Given the description of an element on the screen output the (x, y) to click on. 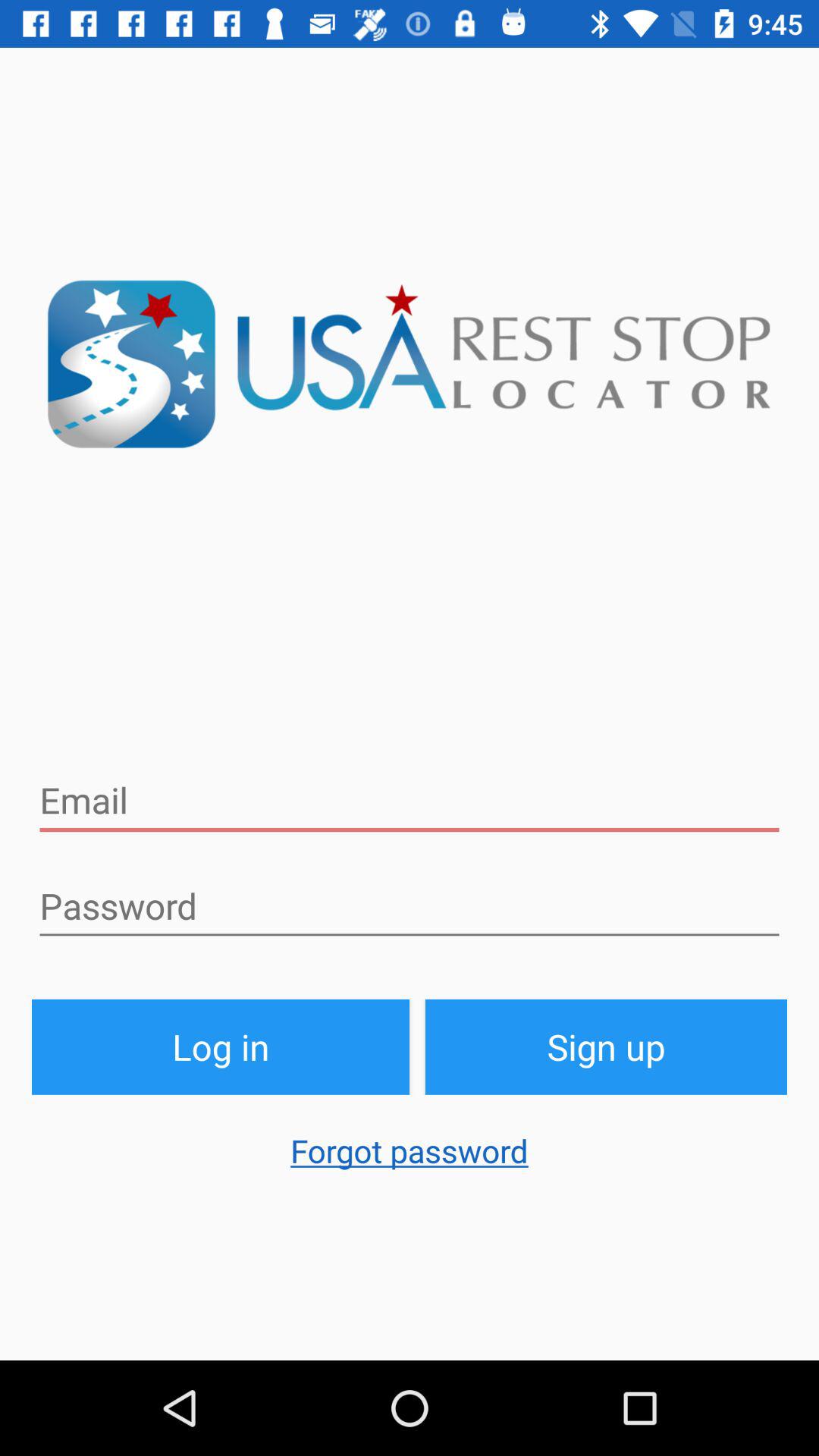
enter email address (409, 800)
